Given the description of an element on the screen output the (x, y) to click on. 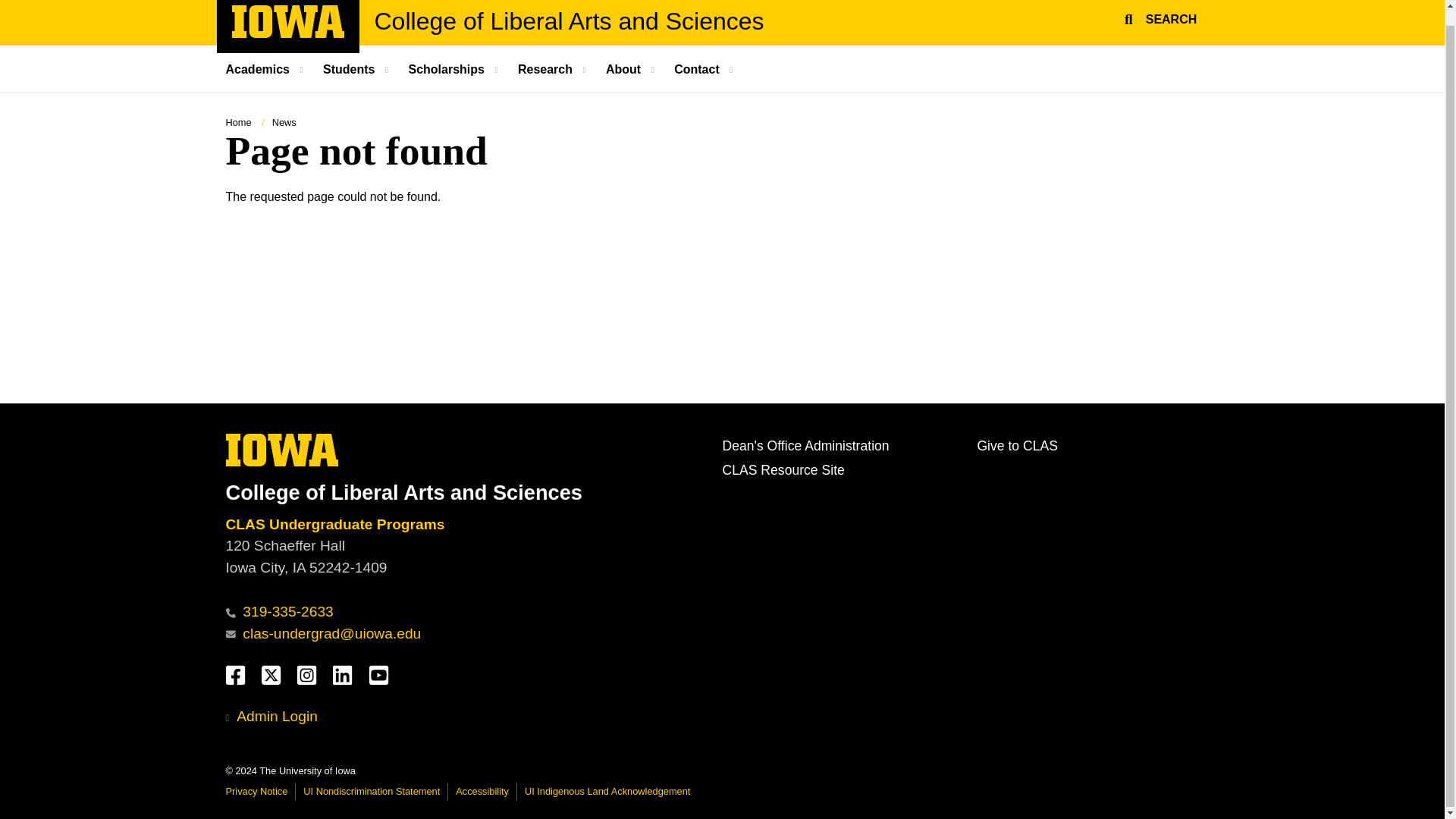
Contact CLAS Dean's Office (805, 445)
University of Iowa (282, 450)
University of Iowa (288, 20)
Academics (288, 33)
College of Liberal Arts and Sciences (266, 68)
SEARCH (569, 21)
CLAS Undergraduate Programs Office (1157, 24)
Resources for faculty and staff (336, 524)
